Given the description of an element on the screen output the (x, y) to click on. 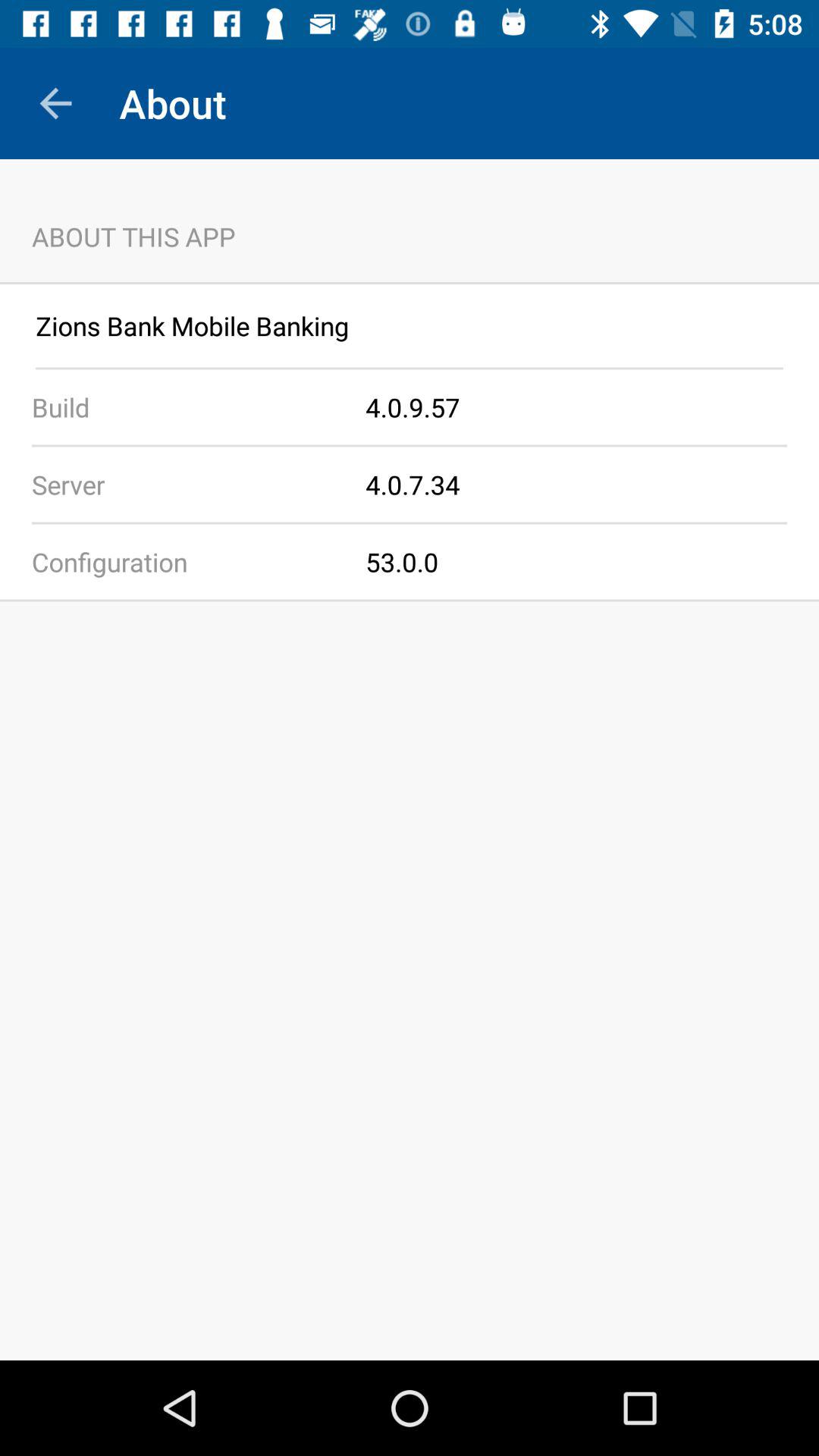
launch item next to 4 0 9 icon (182, 406)
